Given the description of an element on the screen output the (x, y) to click on. 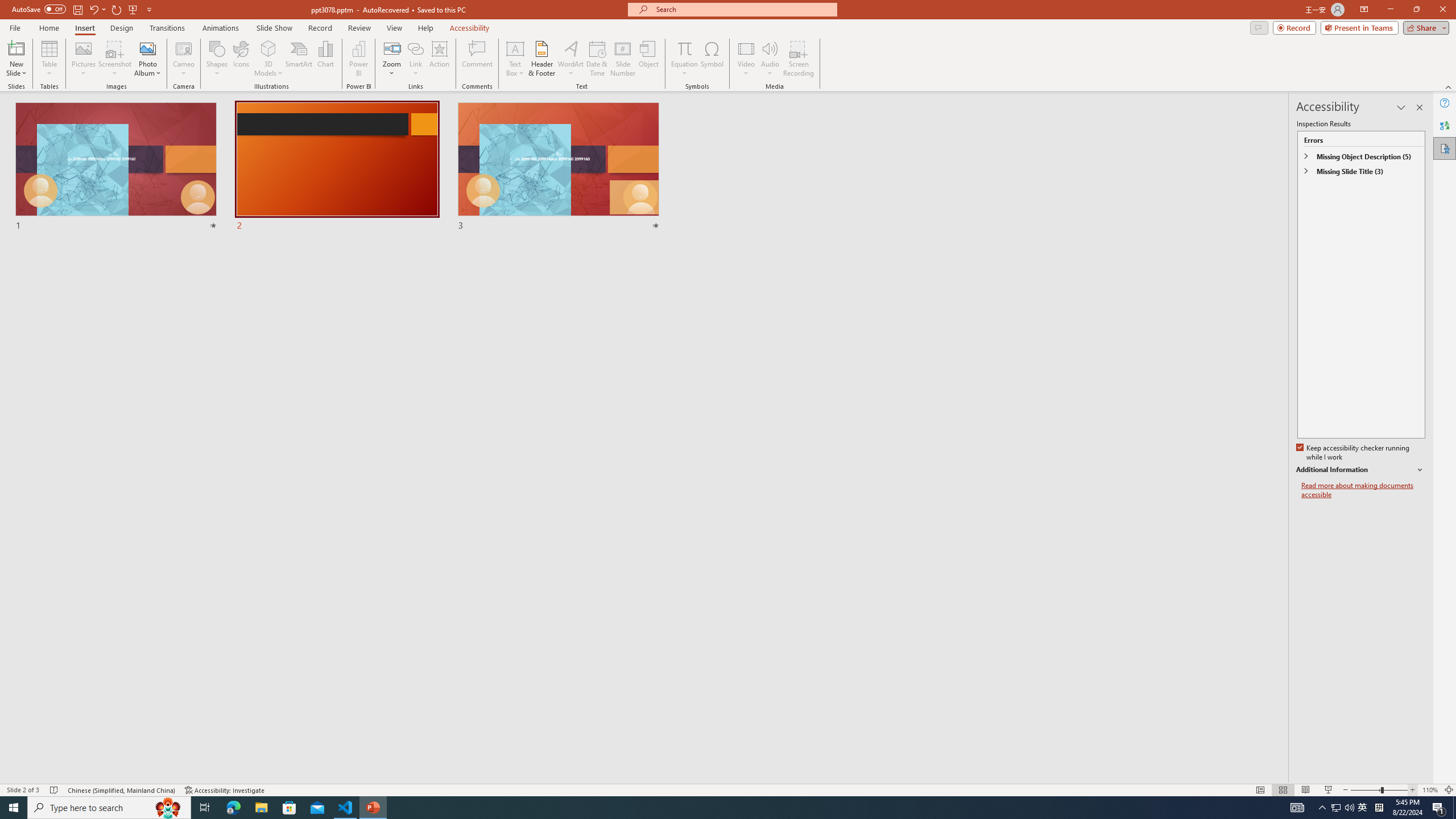
New Slide (16, 48)
Read more about making documents accessible (1363, 489)
Equation (683, 48)
Text Box (515, 58)
Cameo (183, 58)
Share (1423, 27)
Undo (96, 9)
Date & Time... (596, 58)
WordArt (570, 58)
Equation (683, 58)
Pictures (83, 58)
Slide (558, 166)
Icons (240, 58)
Accessibility Checker Accessibility: Investigate (224, 790)
Video (745, 58)
